Given the description of an element on the screen output the (x, y) to click on. 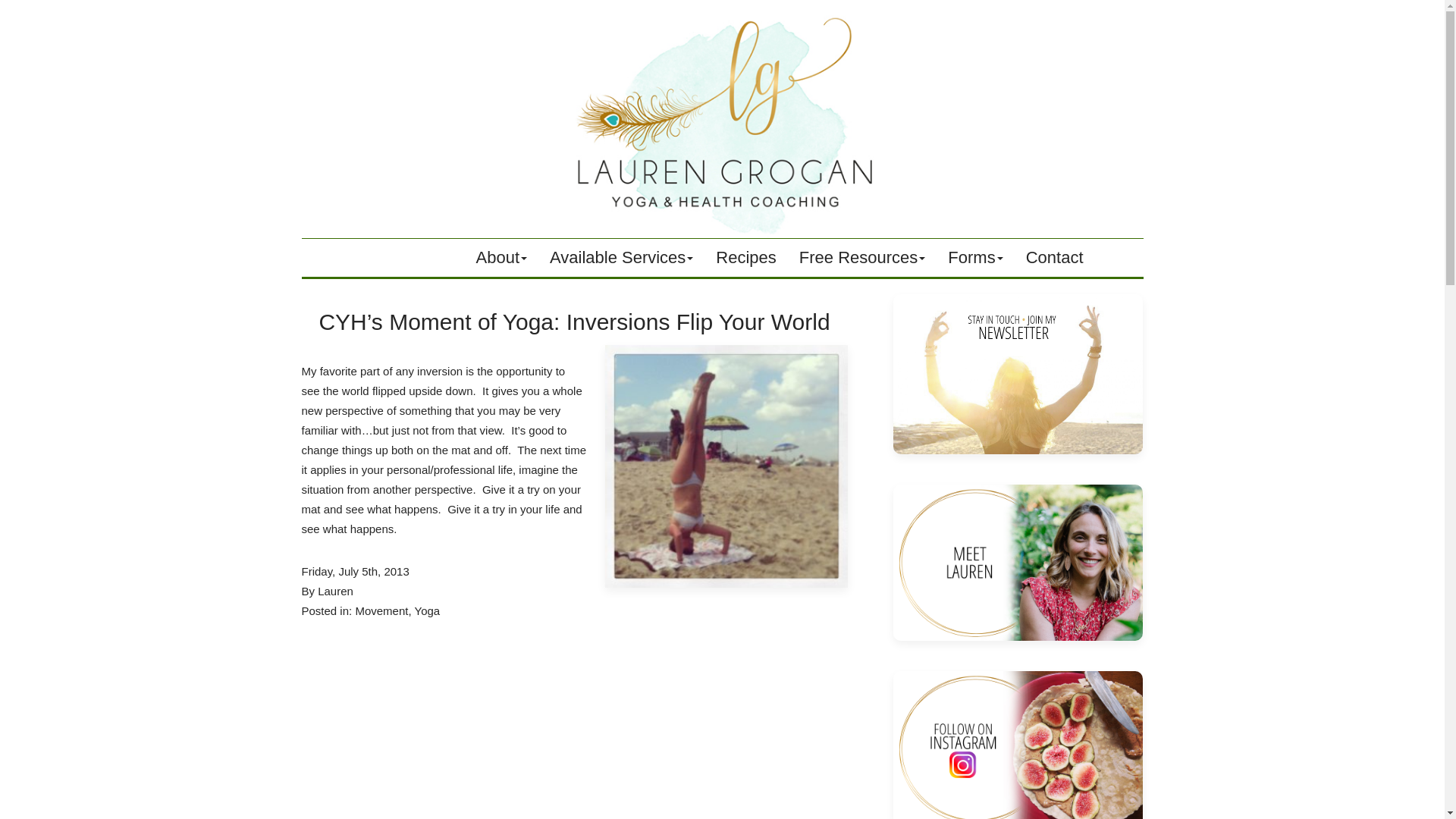
Forms (974, 257)
Available Services (621, 257)
Lauren (335, 590)
Contact (1054, 257)
Posts by Lauren (335, 590)
Free Resources (862, 257)
Movement (381, 610)
Yoga (426, 610)
Recipes (745, 257)
About (501, 257)
